Given the description of an element on the screen output the (x, y) to click on. 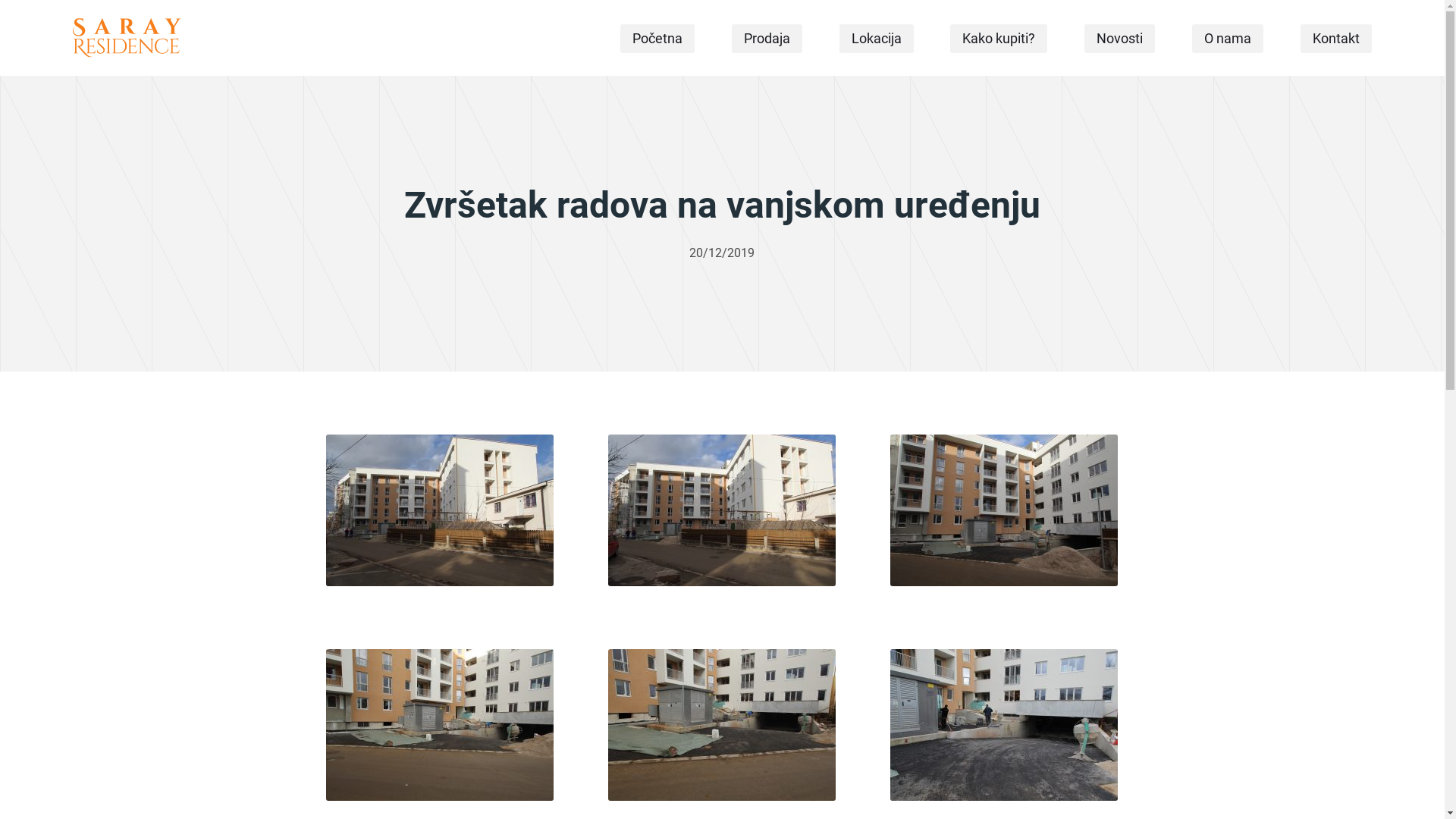
Kako kupiti? Element type: text (998, 38)
Kontakt Element type: text (1335, 38)
Lokacija Element type: text (876, 38)
O nama Element type: text (1227, 38)
Novosti Element type: text (1119, 38)
Prodaja Element type: text (766, 38)
